Given the description of an element on the screen output the (x, y) to click on. 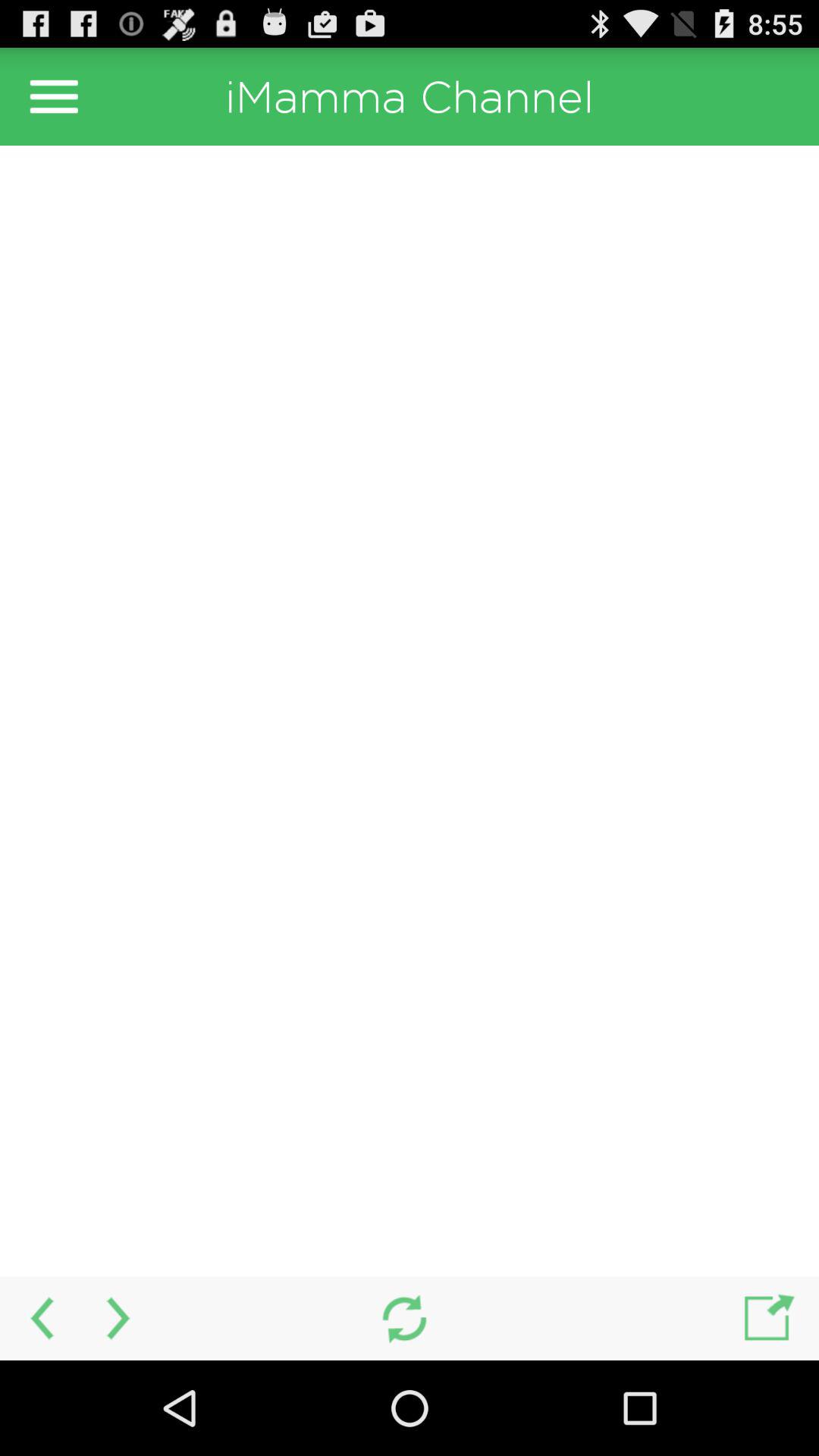
open menu (53, 96)
